Given the description of an element on the screen output the (x, y) to click on. 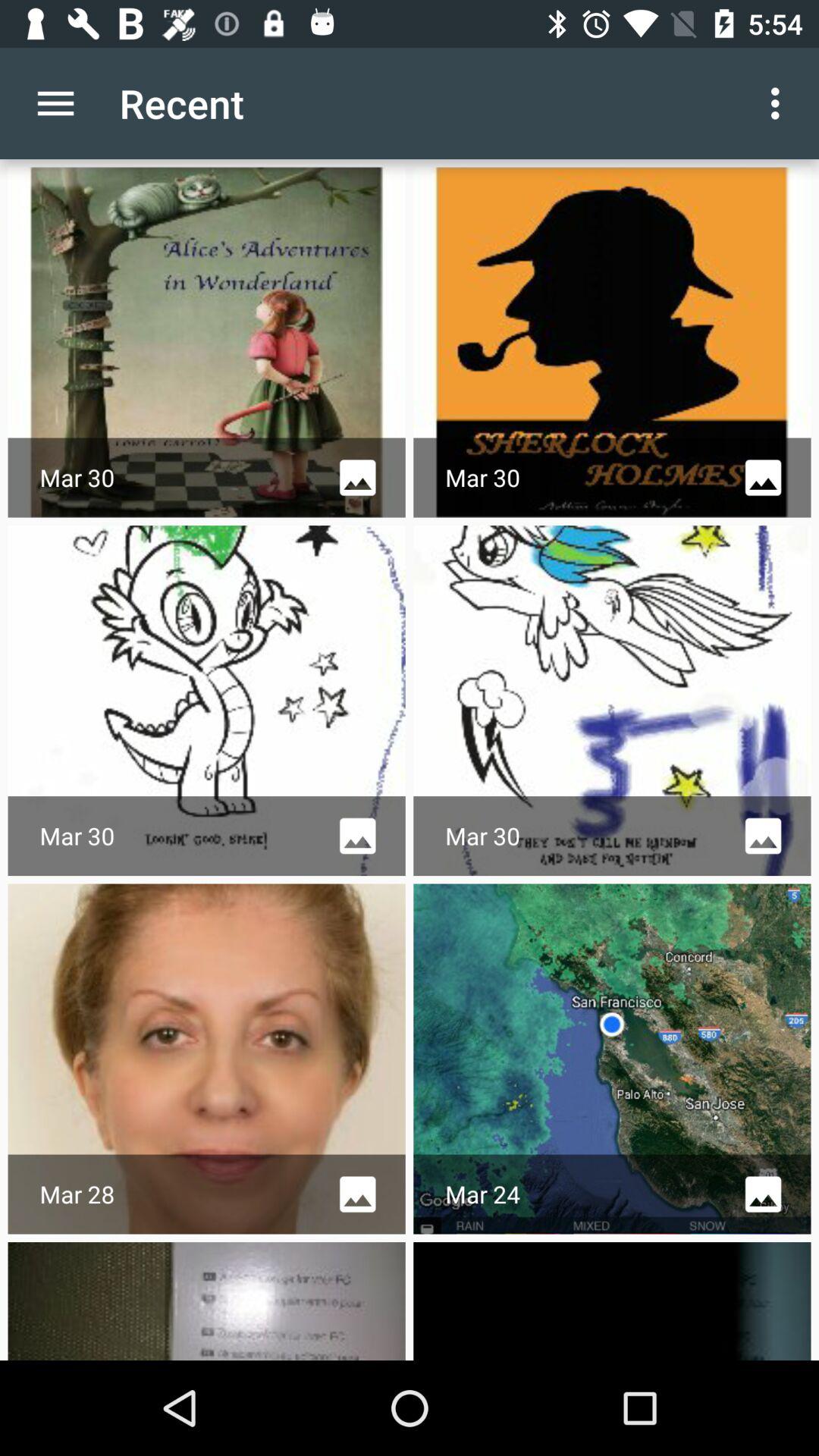
click on the image below alices adventures in wonderland (206, 700)
select the frame in the right bottom (612, 1300)
click on the second row of second image icon (763, 836)
click on image symbol below second image from first row (763, 478)
go to mar 28 (206, 1058)
